Given the description of an element on the screen output the (x, y) to click on. 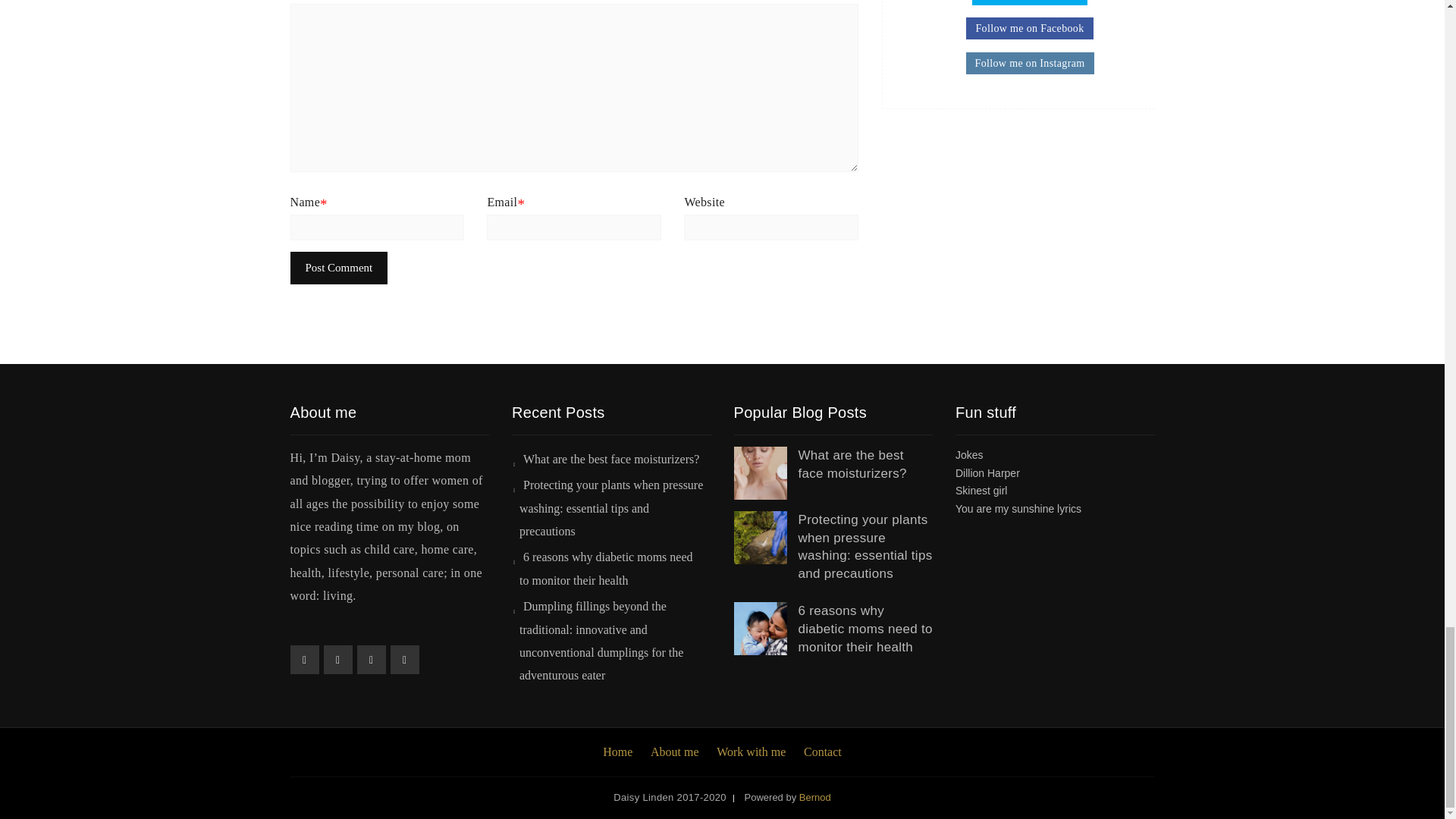
Post Comment (338, 267)
